Given the description of an element on the screen output the (x, y) to click on. 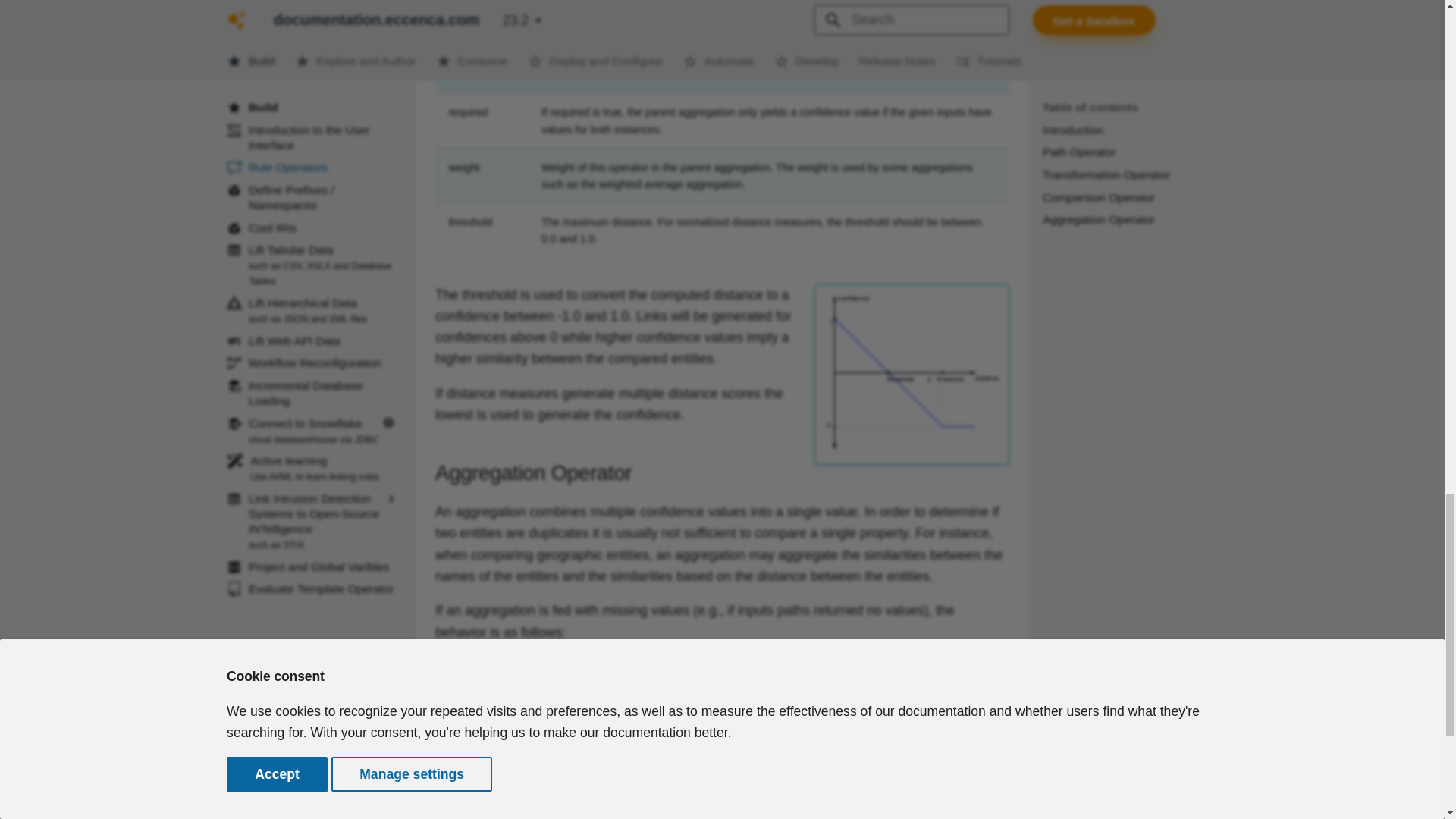
Last update (442, 776)
Created (529, 776)
